Given the description of an element on the screen output the (x, y) to click on. 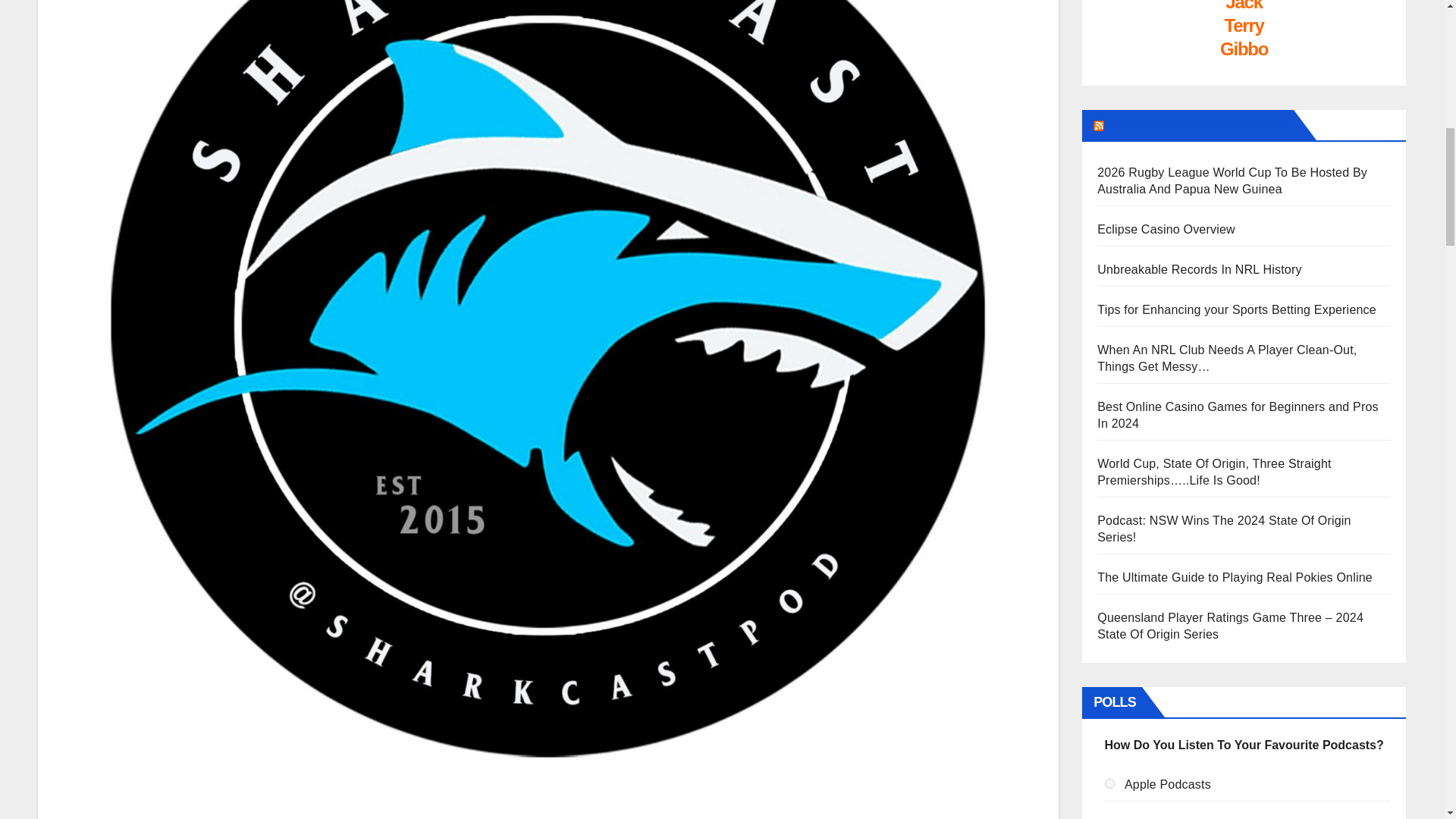
6 (1110, 783)
